Given the description of an element on the screen output the (x, y) to click on. 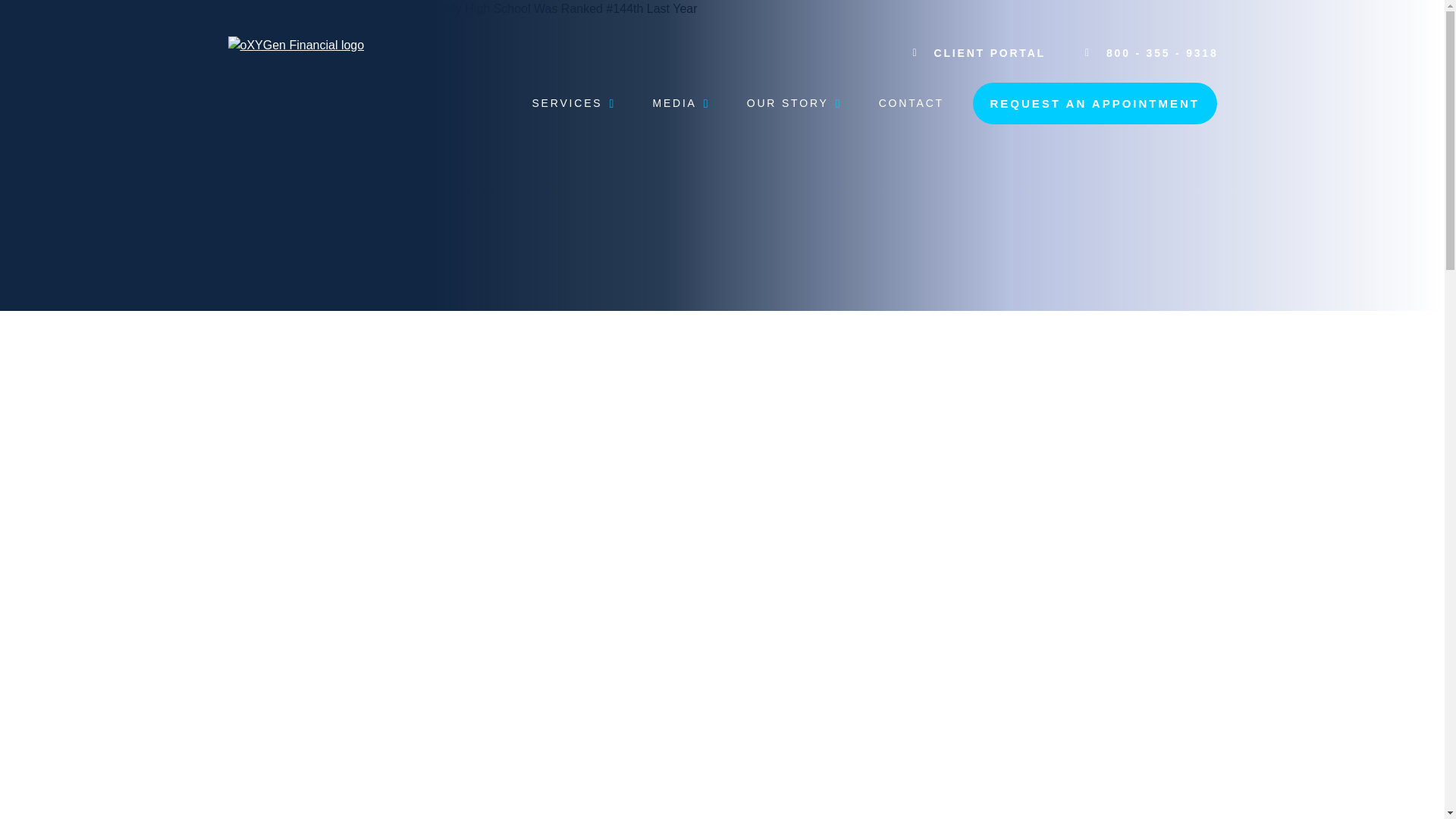
CLIENT PORTAL (979, 53)
Scams To Look Out For (1156, 495)
MEDIA (679, 103)
How To Save Money On Summer Camps (287, 503)
SERVICES (572, 103)
CONTACT (911, 103)
800 - 355 - 9318 (1151, 53)
OUR STORY (793, 103)
REQUEST AN APPOINTMENT (1094, 103)
